Given the description of an element on the screen output the (x, y) to click on. 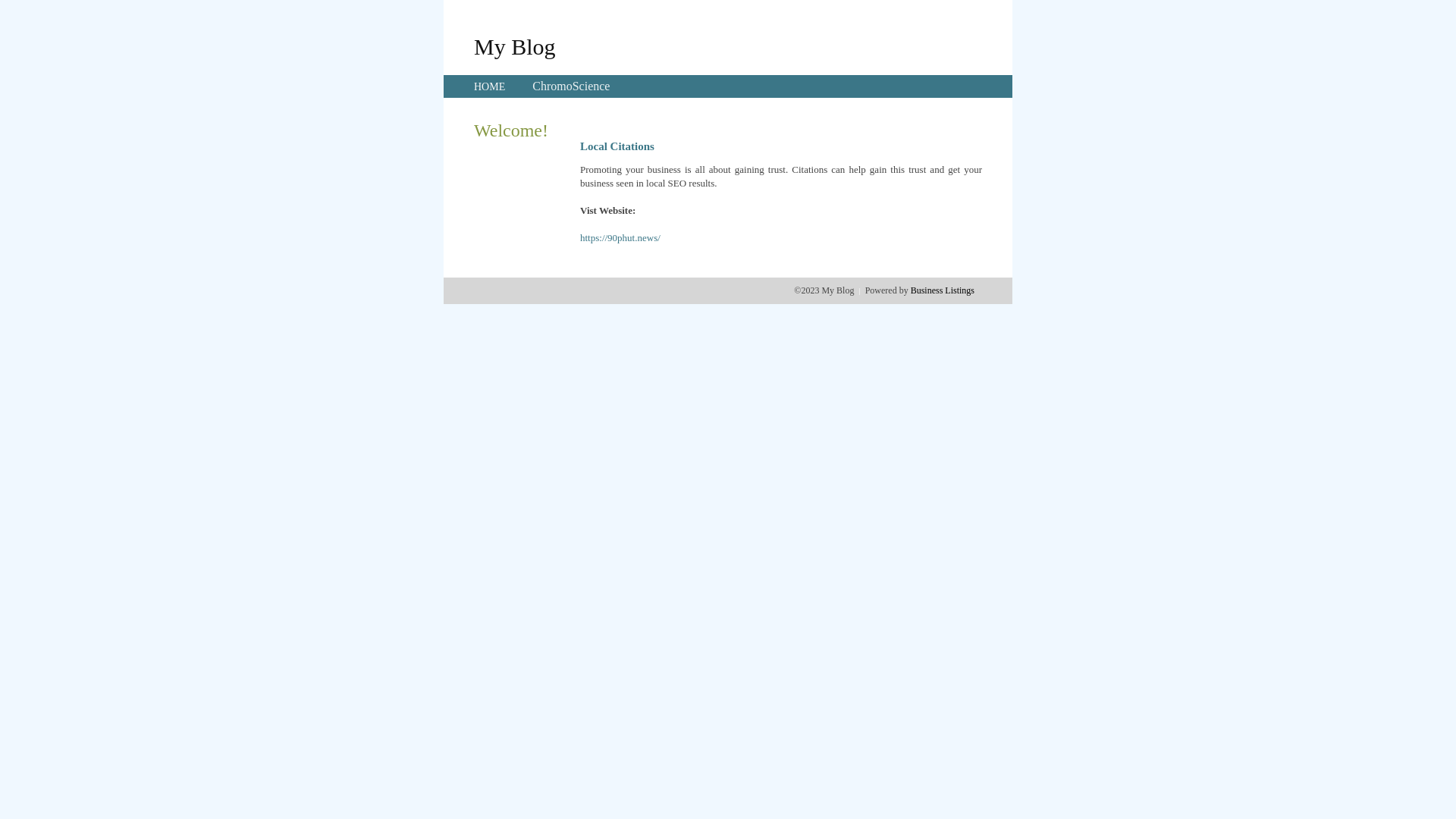
https://90phut.news/ Element type: text (620, 237)
HOME Element type: text (489, 86)
My Blog Element type: text (514, 46)
ChromoScience Element type: text (570, 85)
Business Listings Element type: text (942, 290)
